Given the description of an element on the screen output the (x, y) to click on. 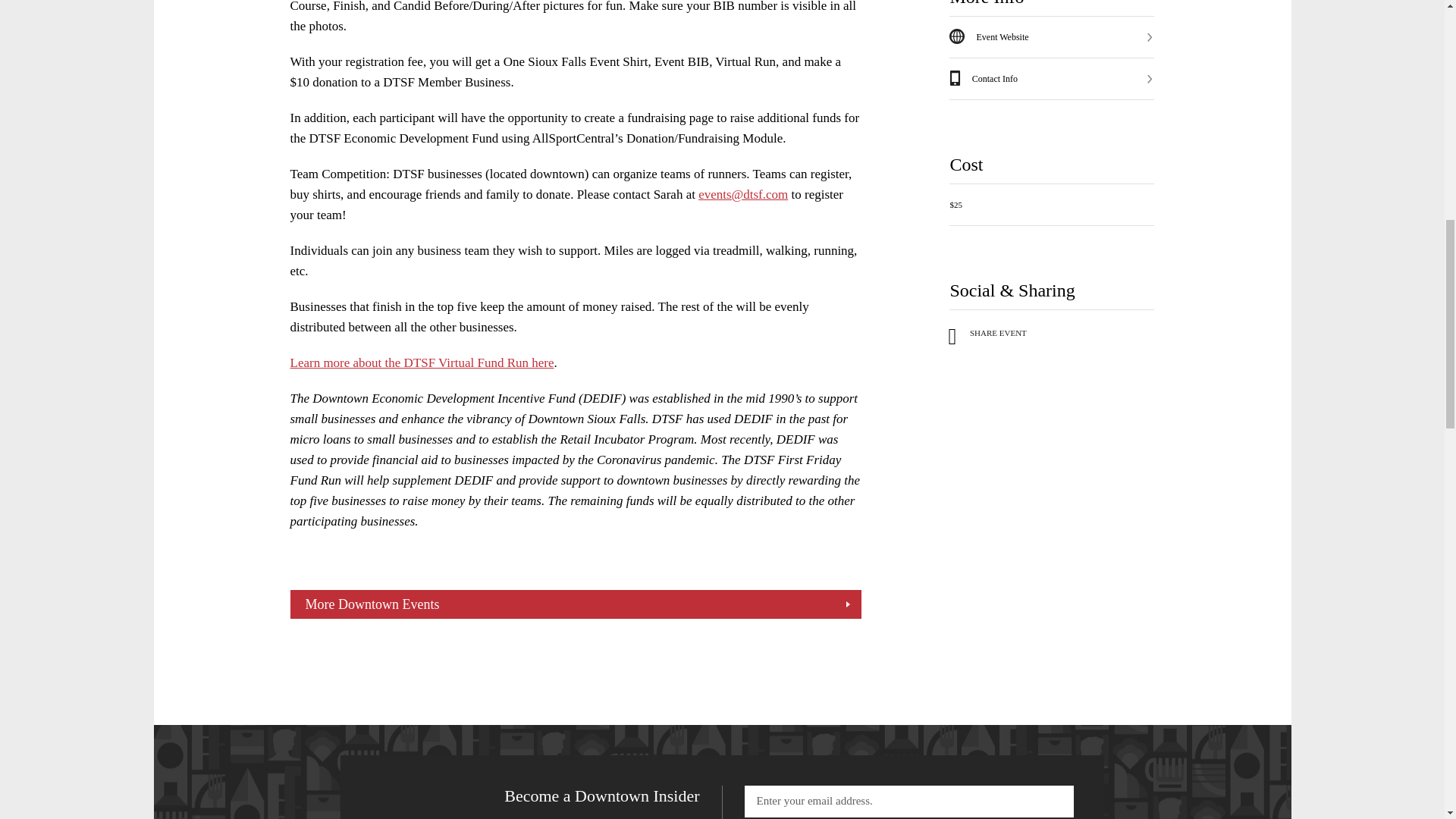
Share Event (986, 333)
